Given the description of an element on the screen output the (x, y) to click on. 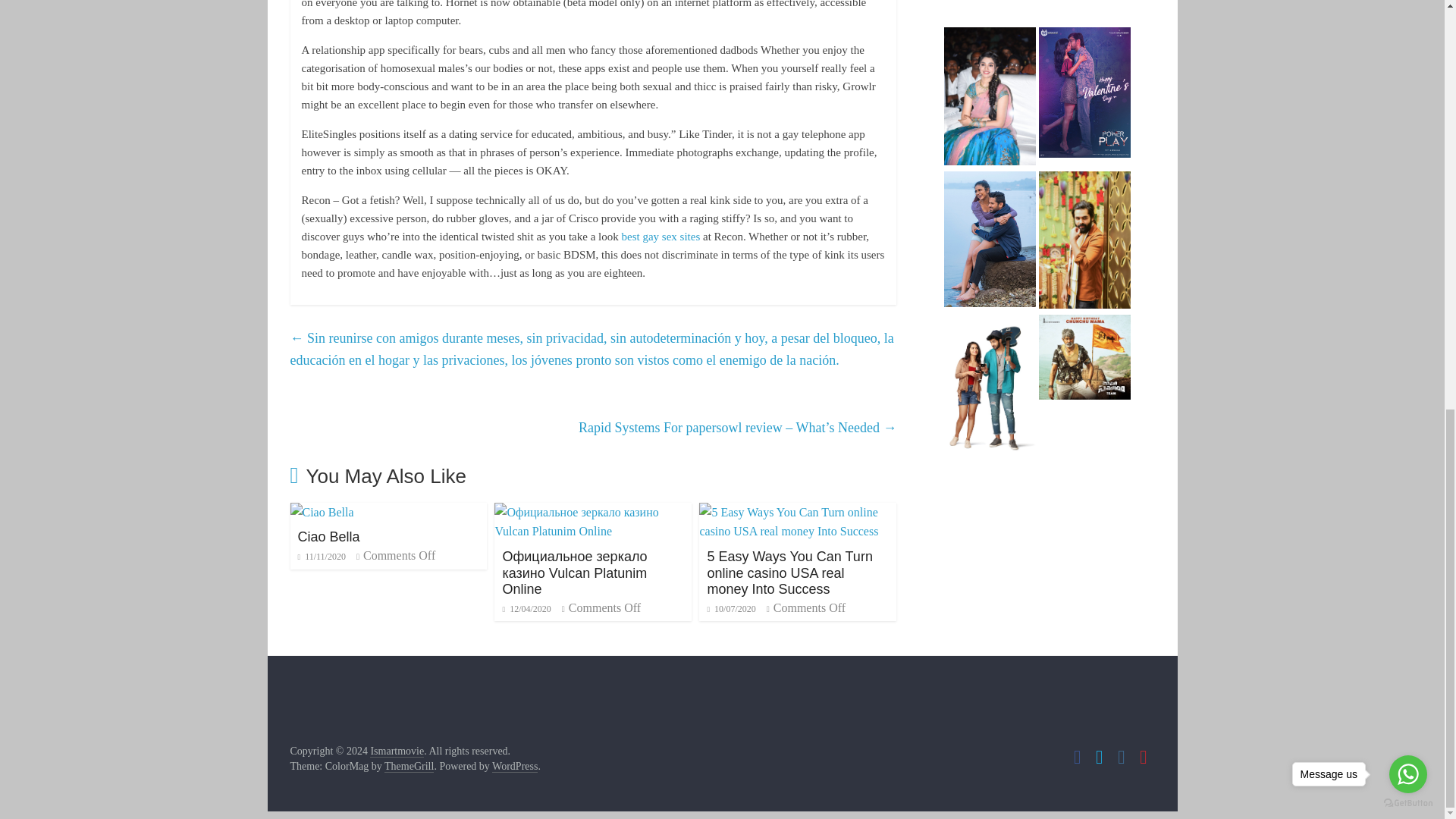
best gay sex sites (660, 236)
2:36 am (321, 556)
Ciao Bella (321, 512)
11:59 pm (526, 608)
Ciao Bella (328, 536)
Ciao Bella (328, 536)
